Given the description of an element on the screen output the (x, y) to click on. 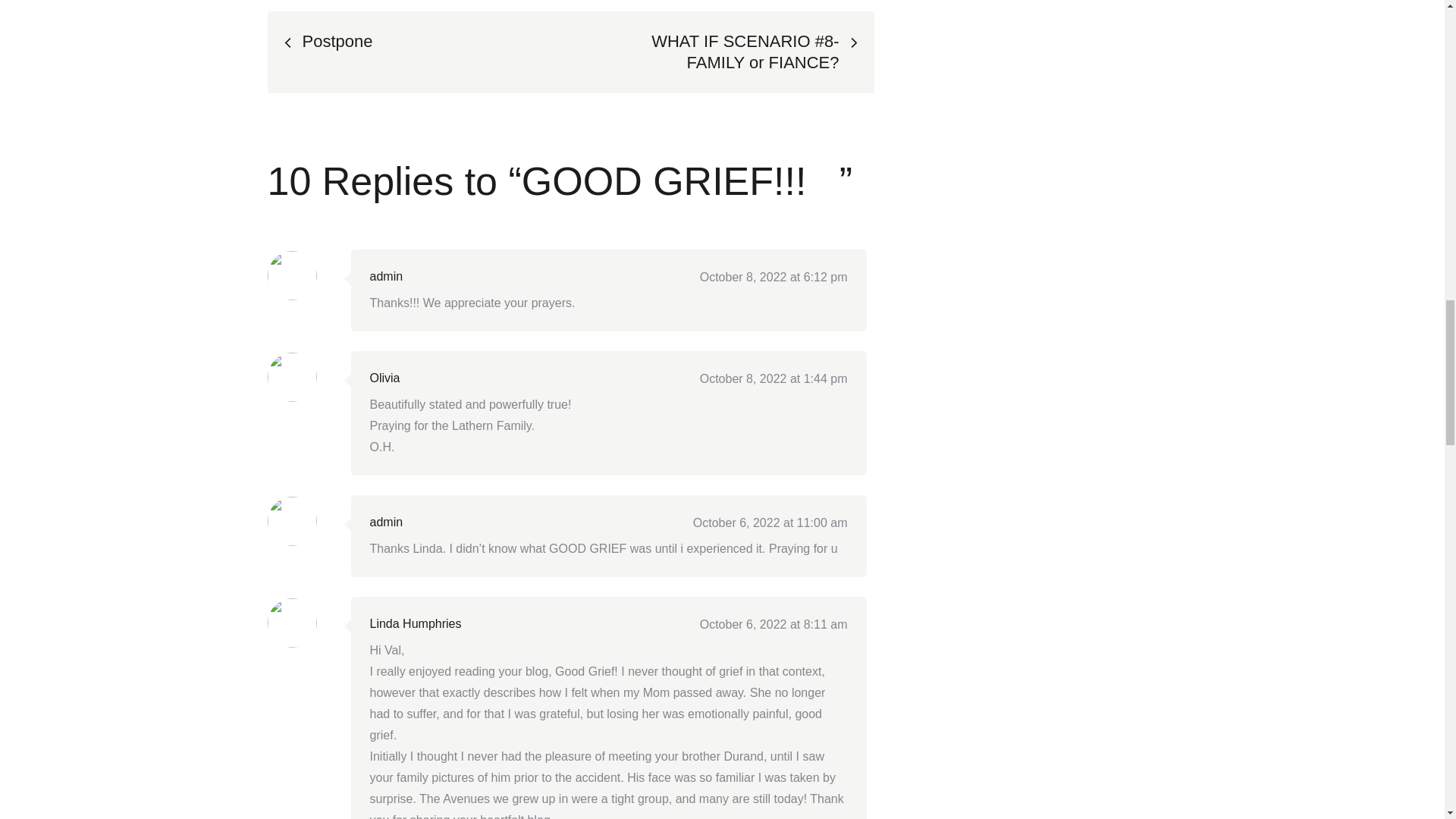
October 6, 2022 at 8:11 am (773, 624)
October 6, 2022 at 11:00 am (770, 522)
October 8, 2022 at 6:12 pm (773, 277)
October 8, 2022 at 1:44 pm (773, 378)
